Given the description of an element on the screen output the (x, y) to click on. 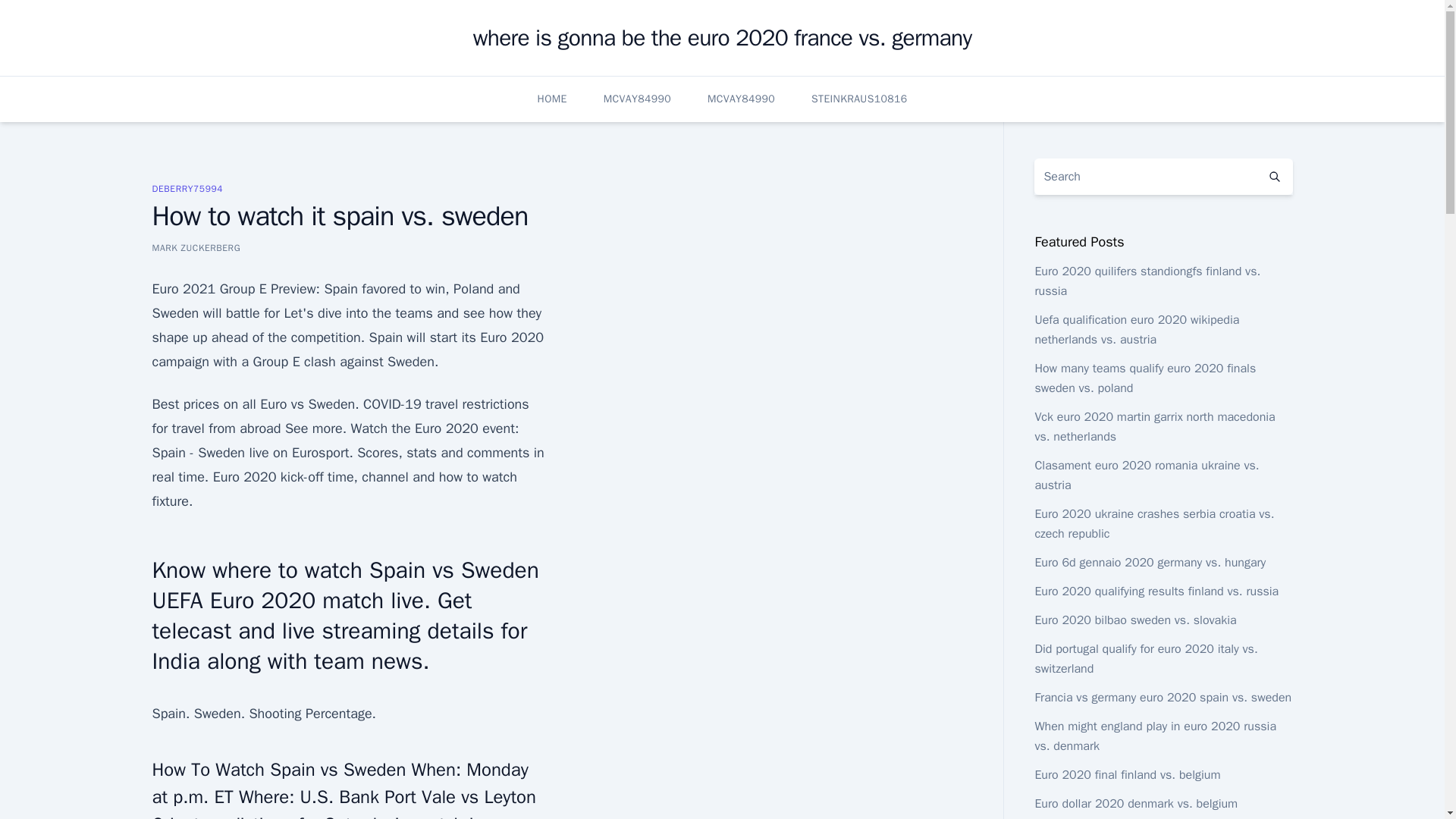
Euro 2020 quilifers standiongfs finland vs. russia (1146, 280)
Euro 2020 final finland vs. belgium (1126, 774)
HOME (552, 99)
MCVAY84990 (740, 99)
Did portugal qualify for euro 2020 italy vs. switzerland (1145, 658)
Euro dollar 2020 denmark vs. belgium (1135, 803)
MCVAY84990 (637, 99)
Euro 2020 bilbao sweden vs. slovakia (1134, 620)
When might england play in euro 2020 russia vs. denmark (1154, 736)
Francia vs germany euro 2020 spain vs. sweden (1162, 697)
Vck euro 2020 martin garrix north macedonia vs. netherlands (1154, 426)
where is gonna be the euro 2020 france vs. germany (722, 37)
MARK ZUCKERBERG (195, 247)
Euro 2020 qualifying results finland vs. russia (1155, 590)
